Given the description of an element on the screen output the (x, y) to click on. 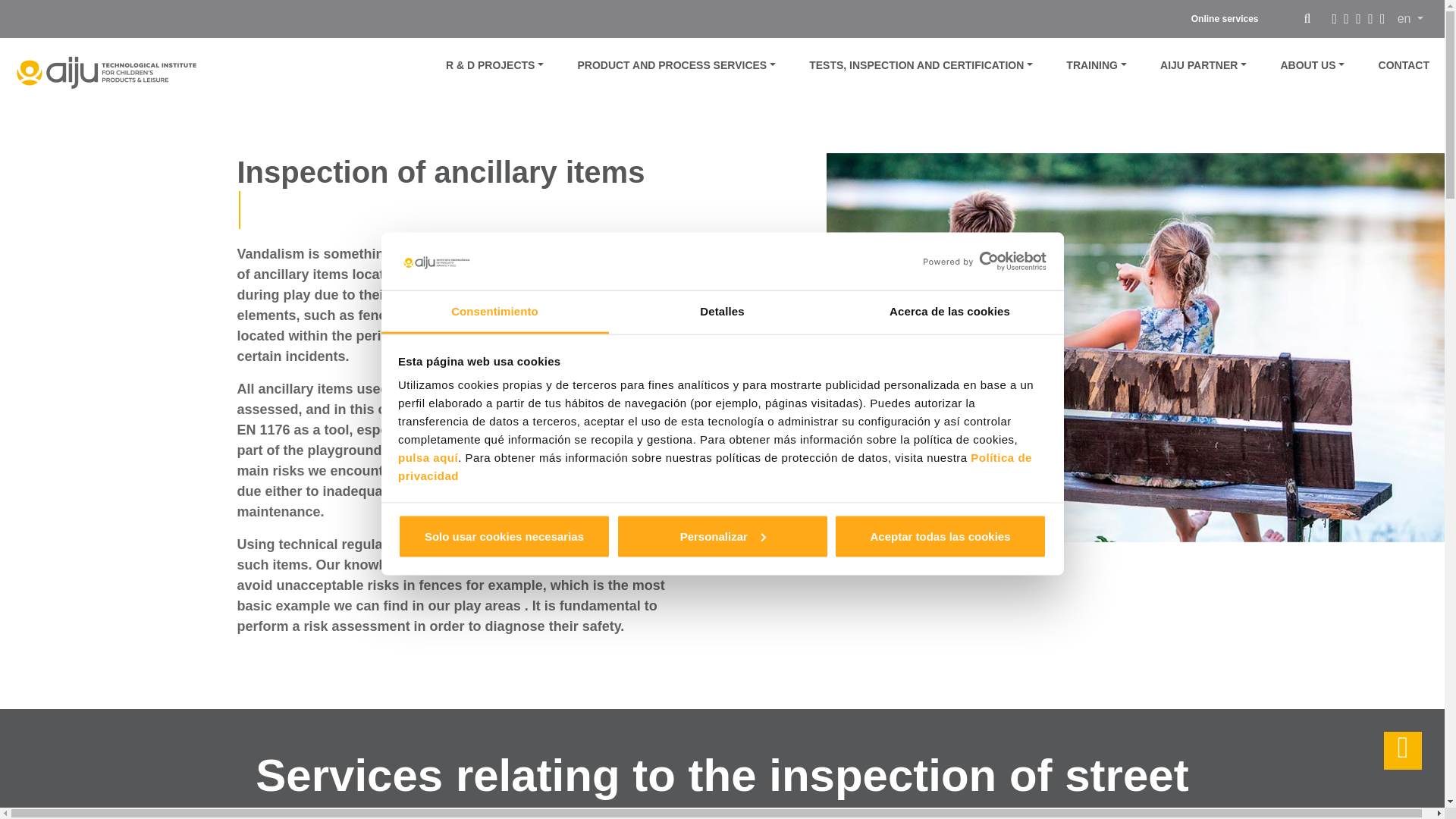
Acerca de las cookies (948, 312)
Consentimiento (494, 312)
Personalizar (721, 535)
Solo usar cookies necesarias (503, 535)
Product and process services (676, 63)
Detalles (721, 312)
Aceptar todas las cookies (940, 535)
